Given the description of an element on the screen output the (x, y) to click on. 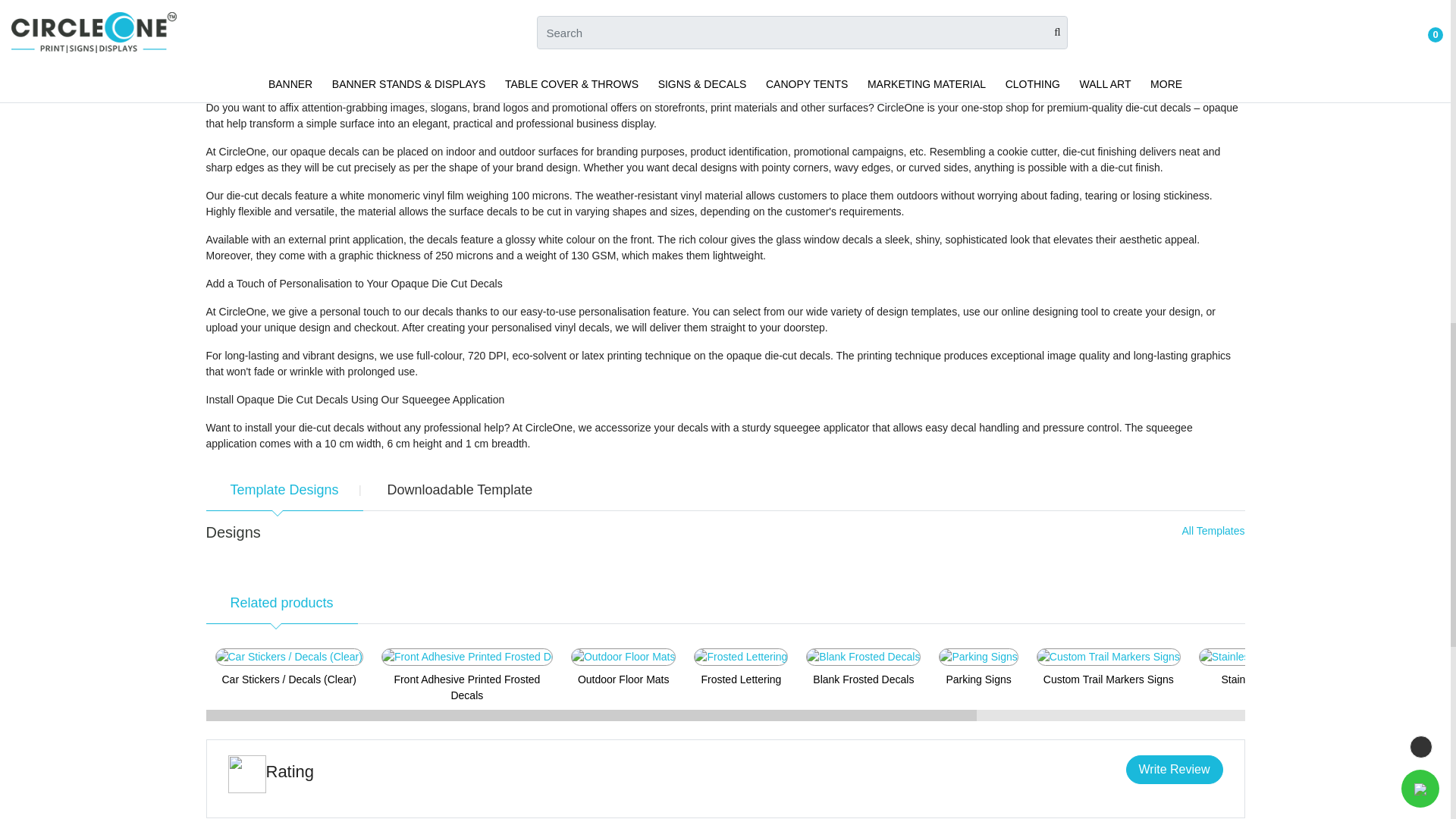
Outdoor Floor Mats (623, 656)
Front Adhesive Printed Frosted Decals (467, 656)
Frosted Lettering (740, 656)
